Given the description of an element on the screen output the (x, y) to click on. 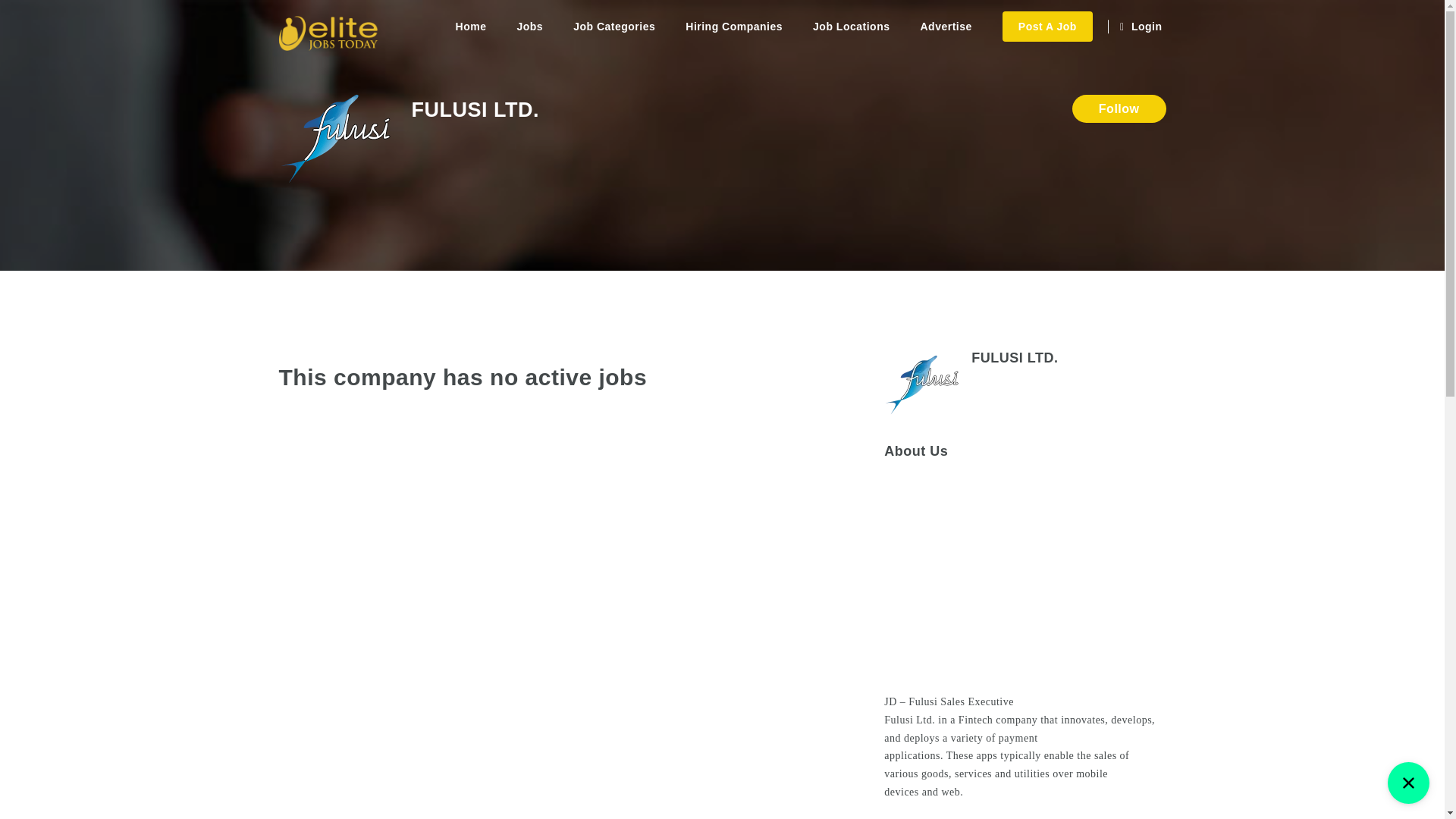
Advertise (945, 26)
Job Categories (613, 26)
Jobs (529, 26)
Post A Job (1048, 26)
Hiring Companies (733, 26)
Job Locations (850, 26)
Advertisement (1023, 815)
Home (471, 26)
Advertisement (1023, 576)
